Given the description of an element on the screen output the (x, y) to click on. 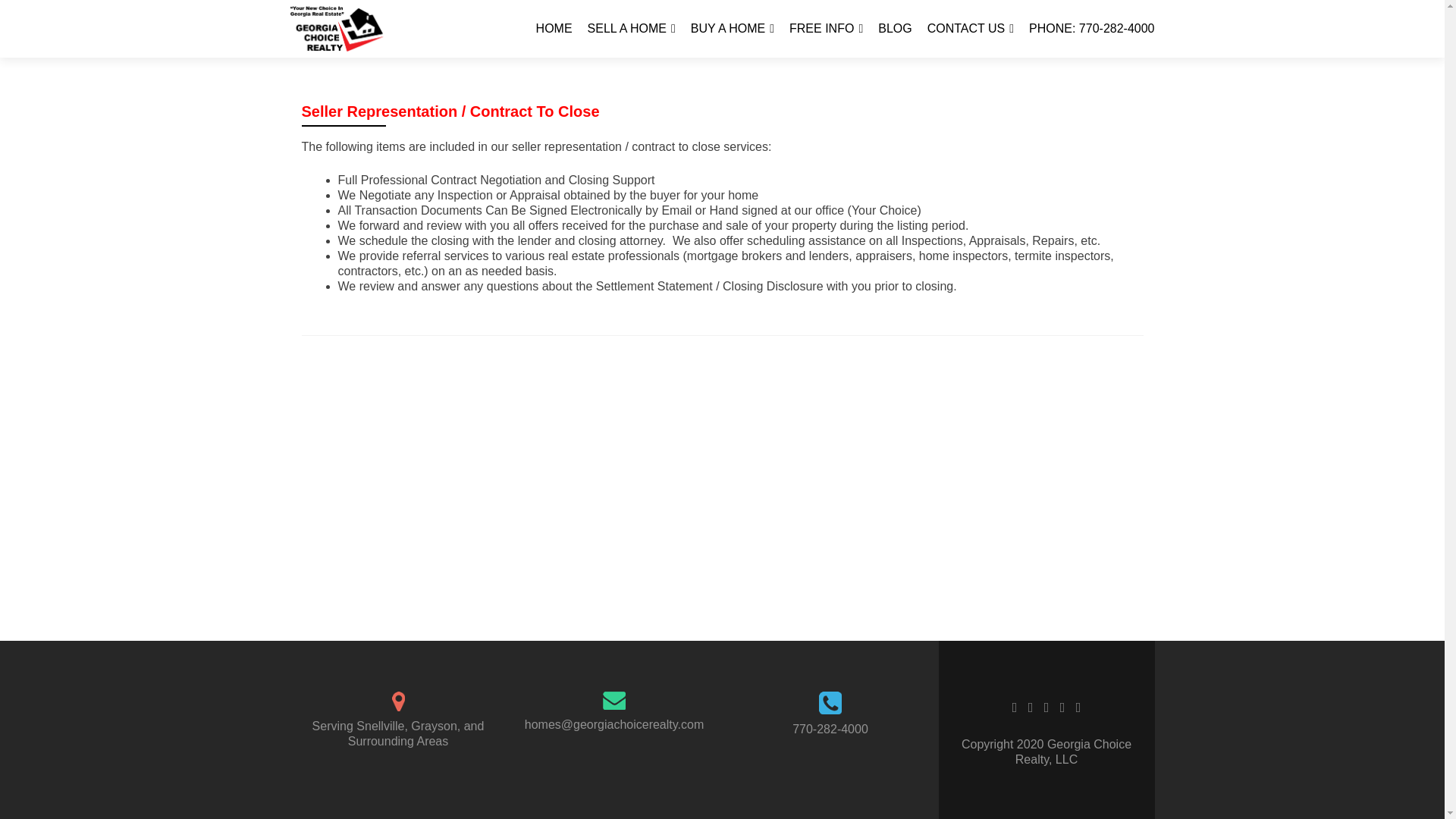
PHONE: 770-282-4000 (1091, 28)
CONTACT US (970, 28)
HOME (553, 28)
BUY A HOME (732, 28)
770-282-4000 (829, 728)
BLOG (894, 28)
FREE INFO (826, 28)
SELL A HOME (631, 28)
